Given the description of an element on the screen output the (x, y) to click on. 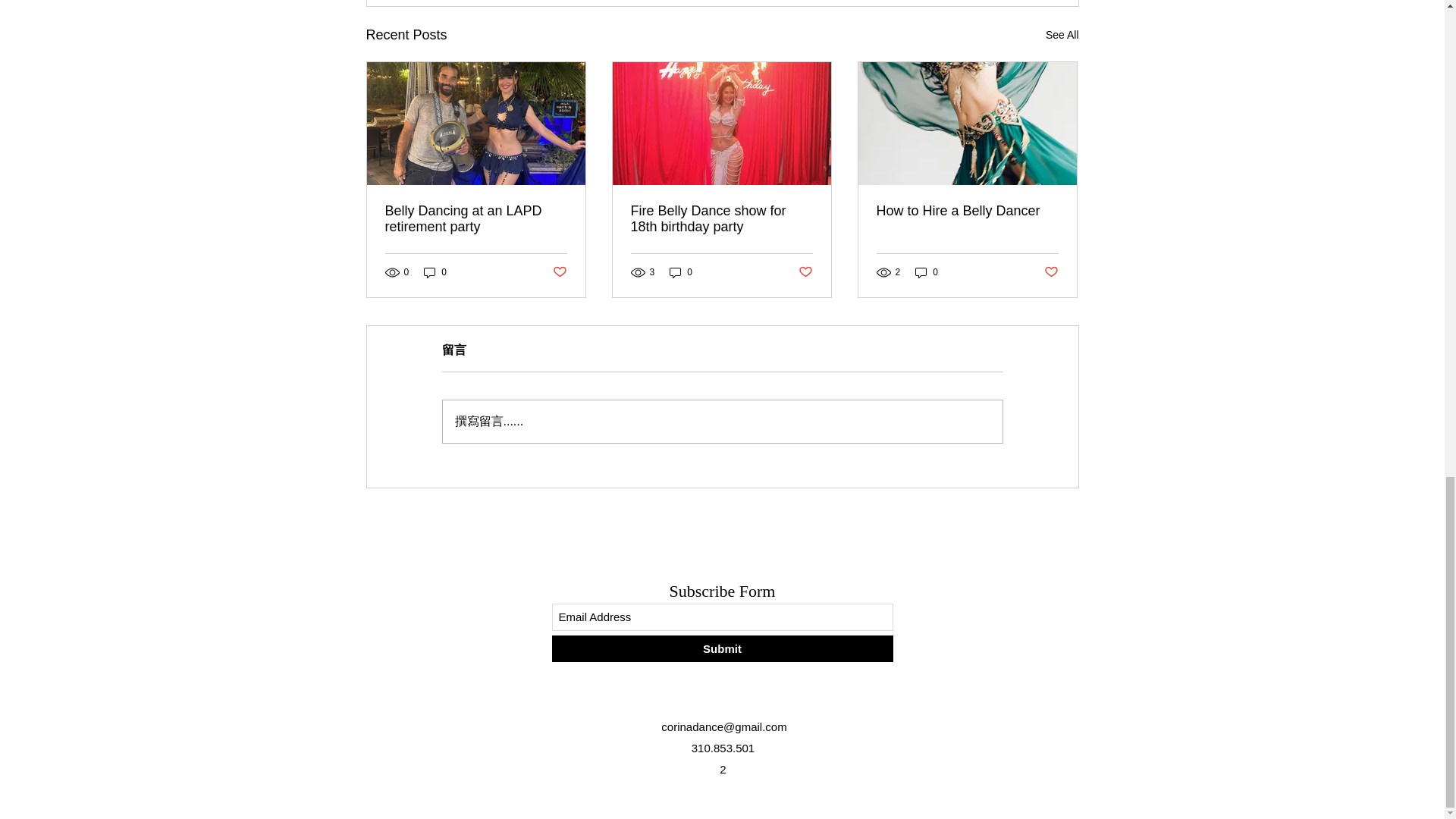
Post not marked as liked (804, 272)
0 (435, 272)
Post not marked as liked (1050, 272)
0 (926, 272)
Submit (722, 647)
Fire Belly Dance show for 18th birthday party (721, 219)
Belly Dancing at an LAPD retirement party (476, 219)
See All (1061, 34)
0 (681, 272)
Post not marked as liked (558, 272)
How to Hire a Belly Dancer (967, 211)
